Given the description of an element on the screen output the (x, y) to click on. 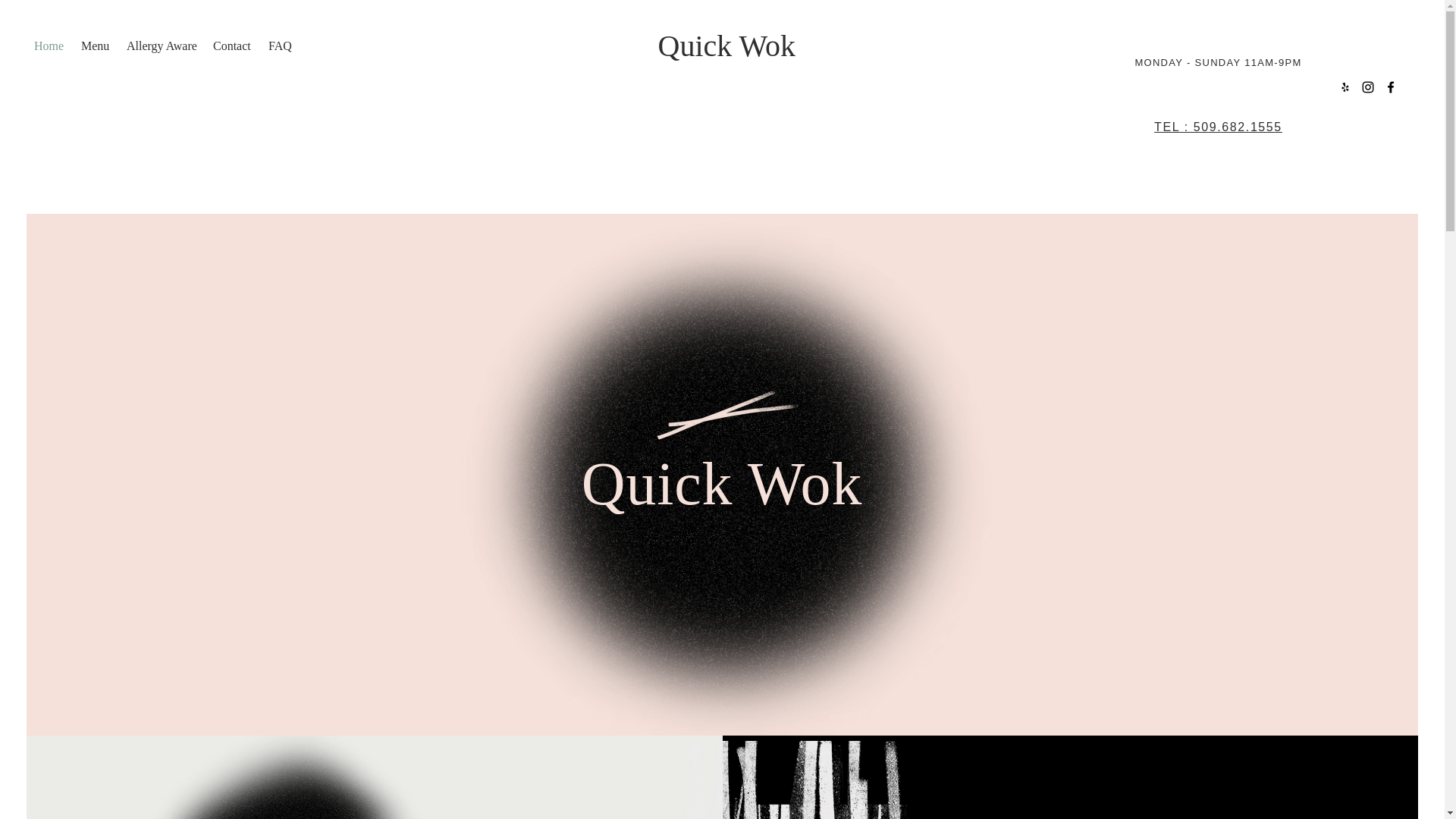
Contact (232, 46)
Quick Wok (727, 46)
Home (50, 46)
TEL : 509.682.1555 (1218, 126)
Allergy Aware (162, 46)
FAQ (281, 46)
Menu (96, 46)
